Given the description of an element on the screen output the (x, y) to click on. 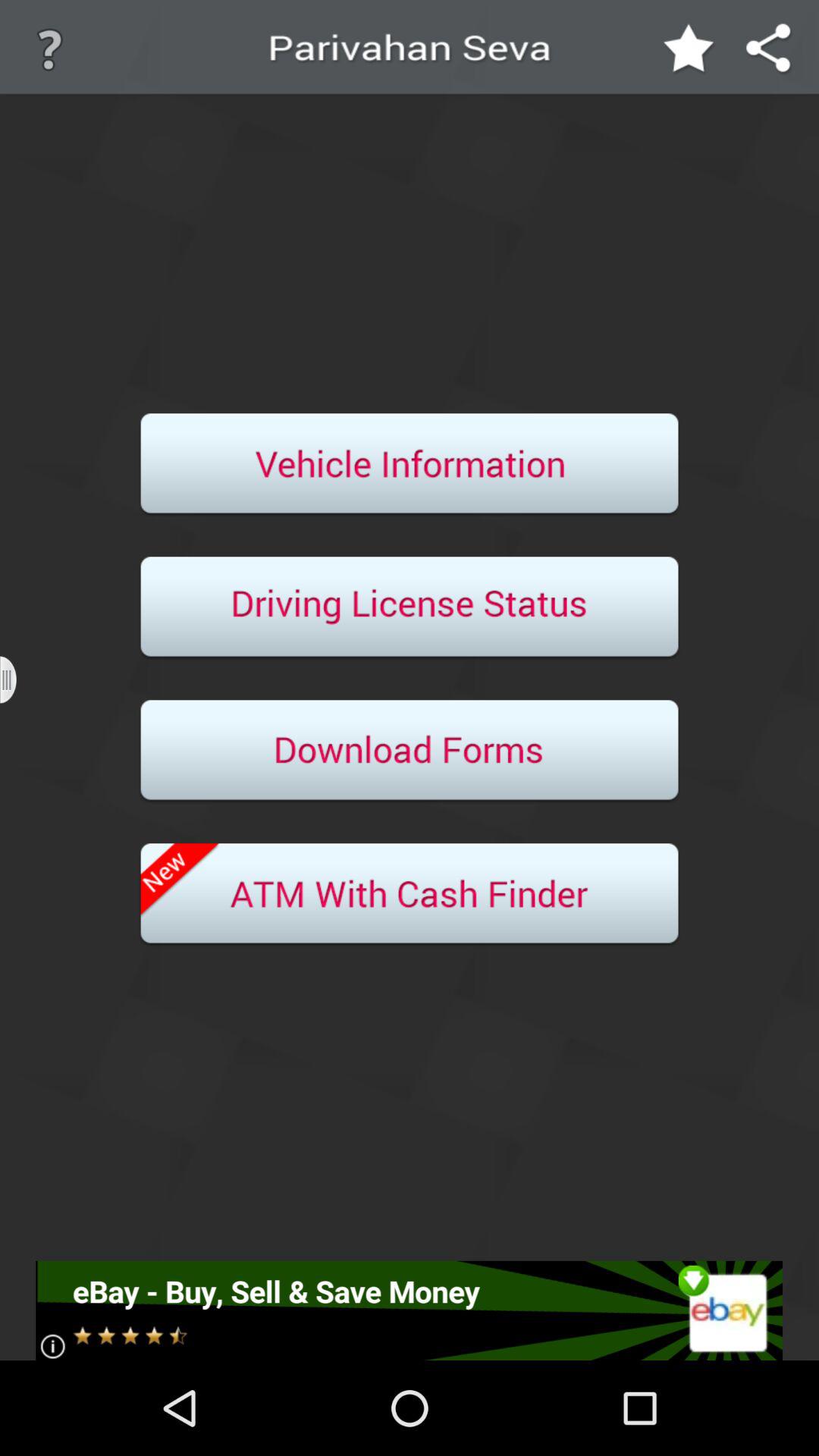
favourite (689, 49)
